Given the description of an element on the screen output the (x, y) to click on. 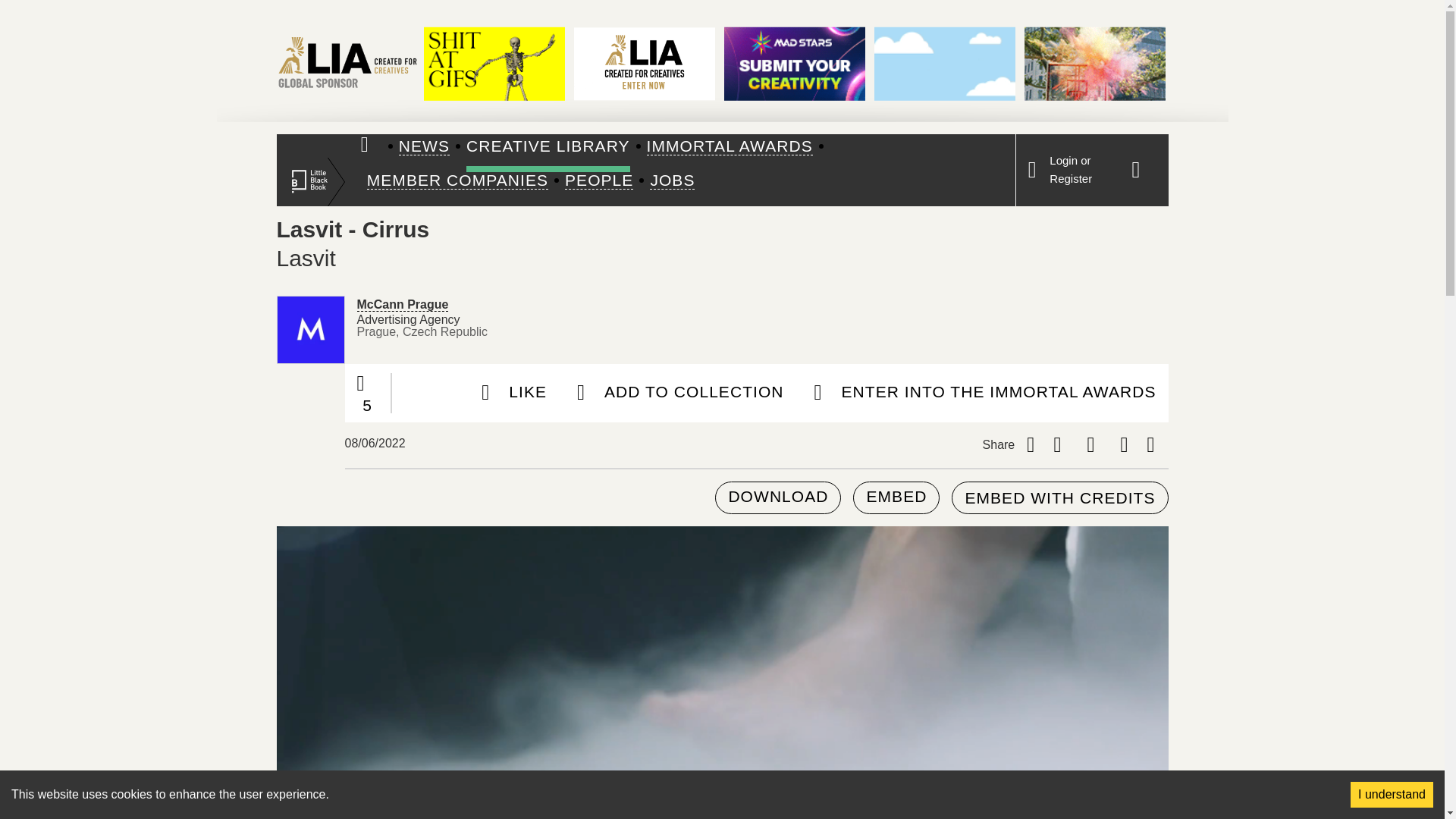
JOBS (671, 180)
EMBED (896, 497)
IMMORTAL AWARDS (729, 147)
DOWNLOAD (777, 497)
MEMBER COMPANIES (457, 180)
McCann Prague (402, 304)
EMBED WITH CREDITS (1059, 497)
CREATIVE LIBRARY (547, 147)
NEWS (423, 147)
PEOPLE (598, 180)
Login or Register (1070, 169)
